Given the description of an element on the screen output the (x, y) to click on. 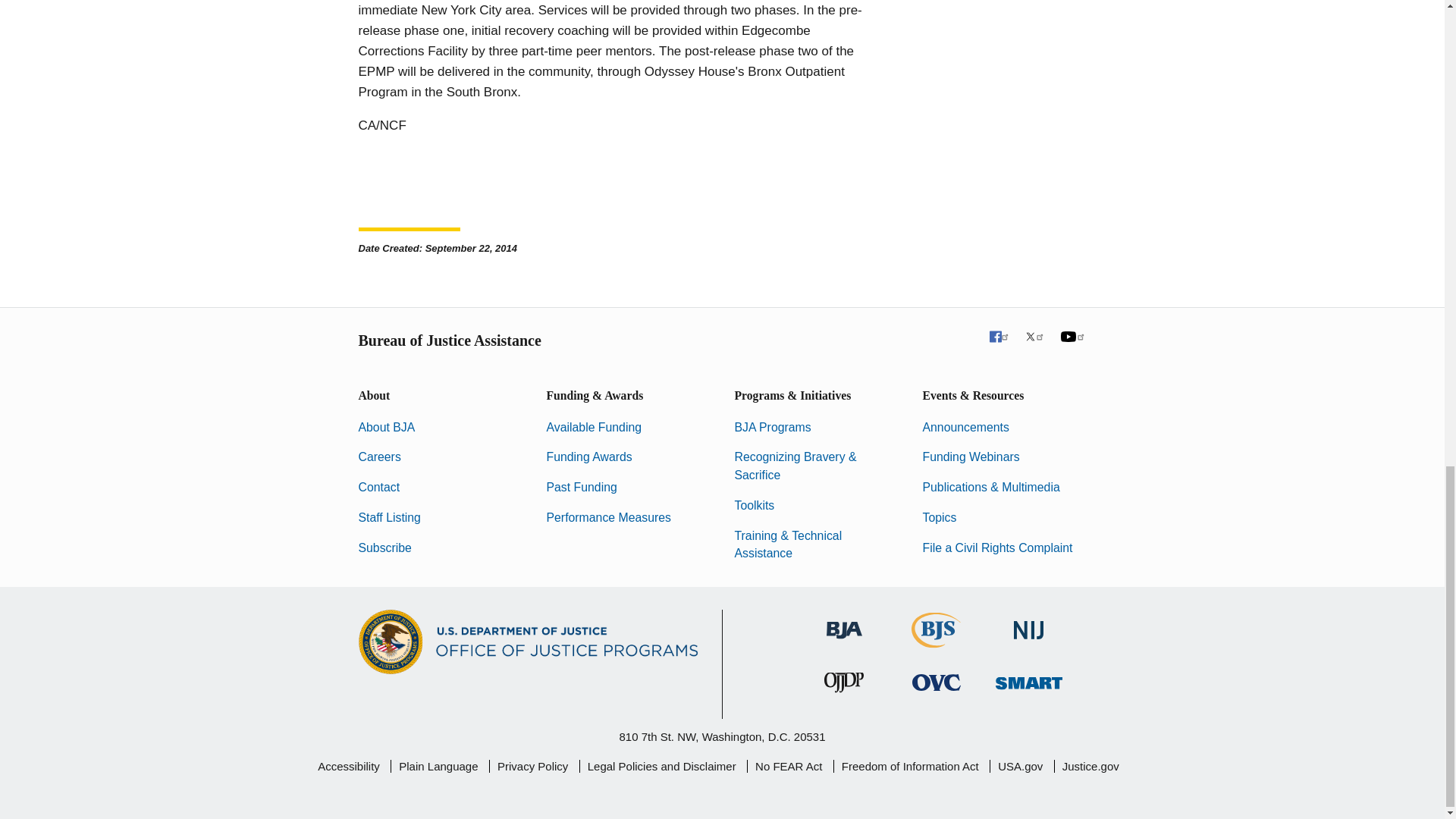
Careers (379, 456)
Contact (378, 486)
Available Funding (594, 427)
Staff Listing (389, 517)
About BJA (386, 427)
Subscribe (384, 547)
